Given the description of an element on the screen output the (x, y) to click on. 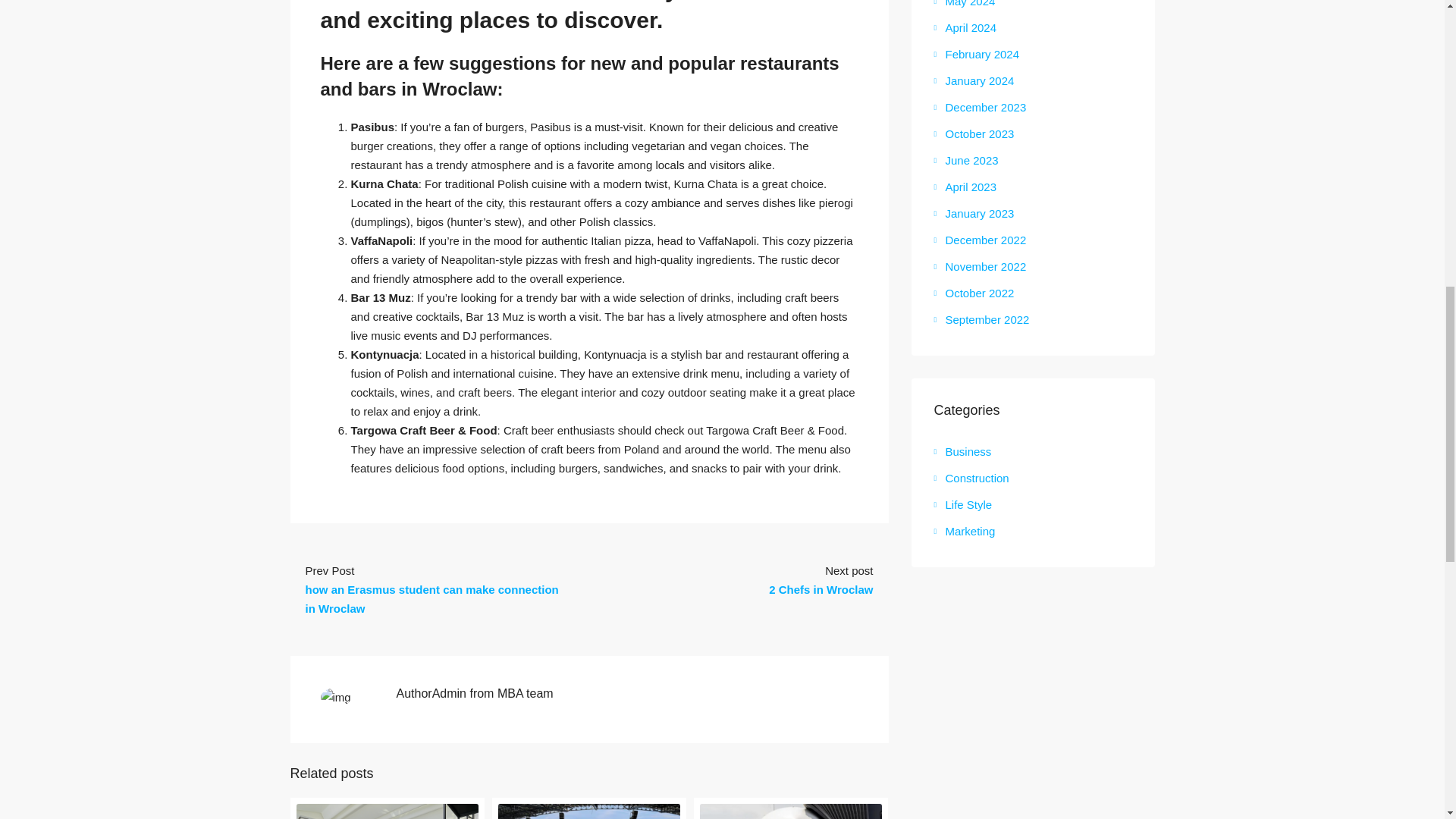
how an Erasmus student can make connection in Wroclaw (430, 599)
Buckle up, jet-setters! Starting 2024 (791, 811)
2 Chefs in Wroclaw (820, 589)
